Given the description of an element on the screen output the (x, y) to click on. 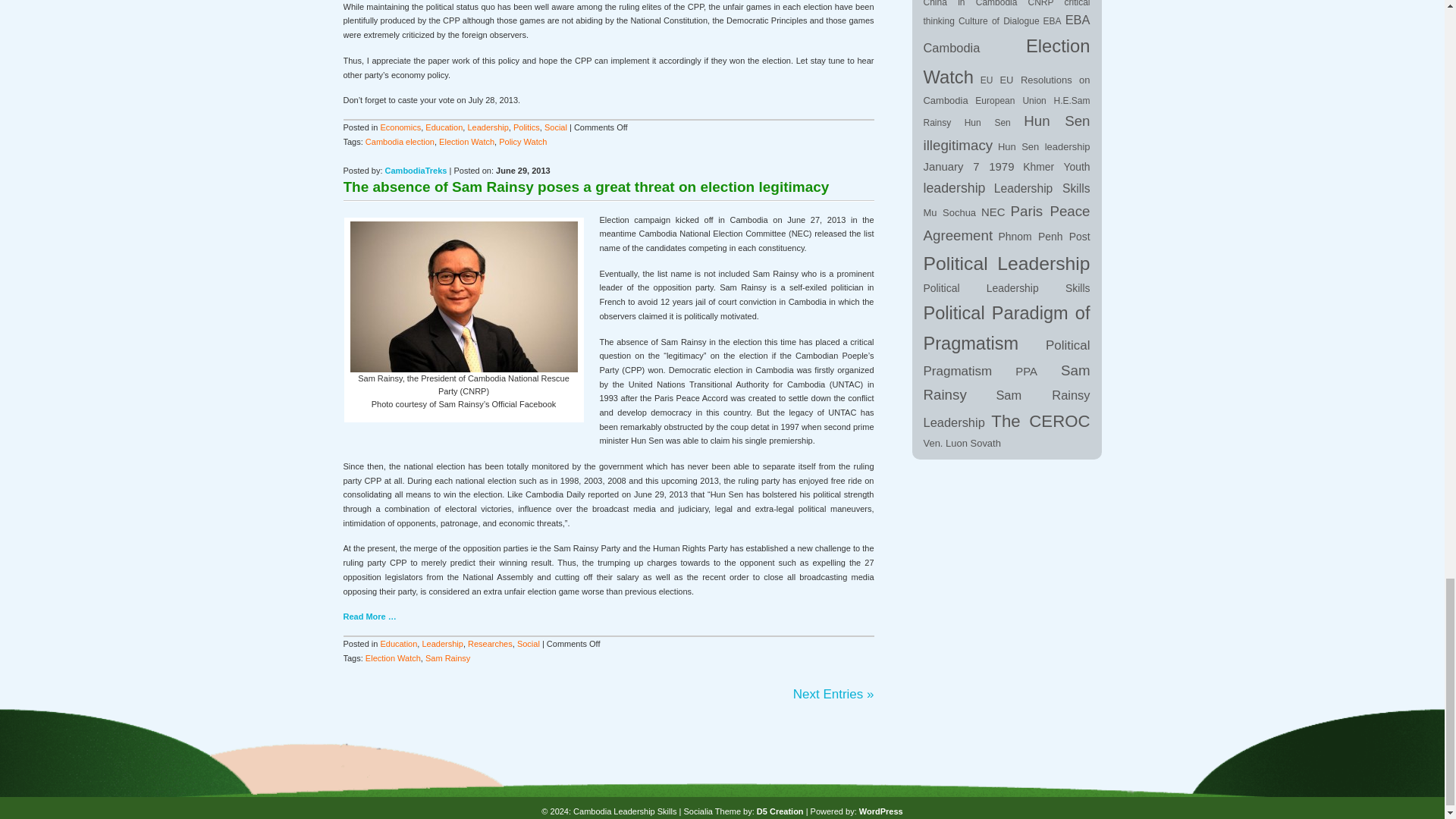
Posts by CambodiaTreks (415, 170)
